Given the description of an element on the screen output the (x, y) to click on. 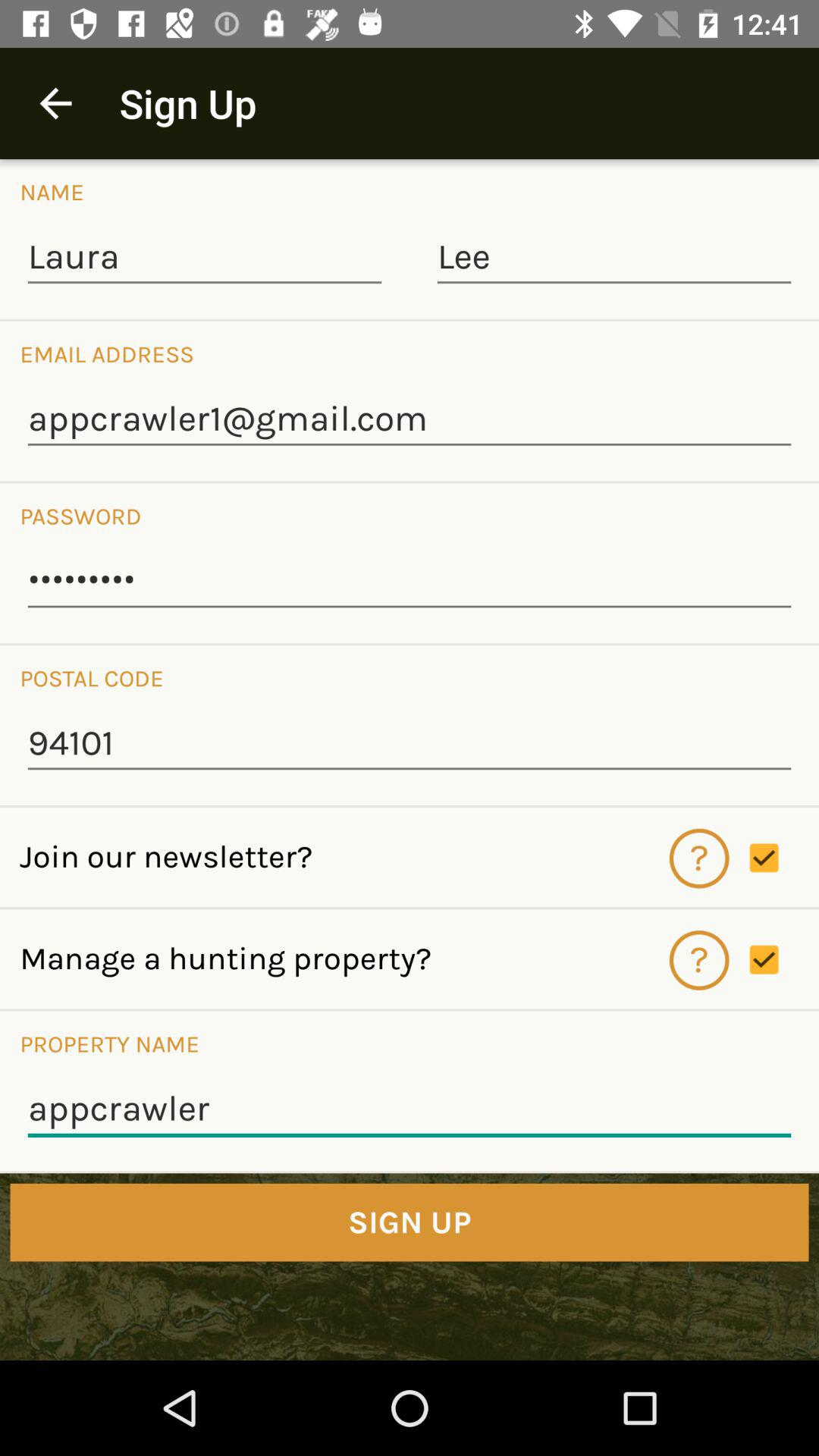
turn off icon below the password icon (409, 581)
